Given the description of an element on the screen output the (x, y) to click on. 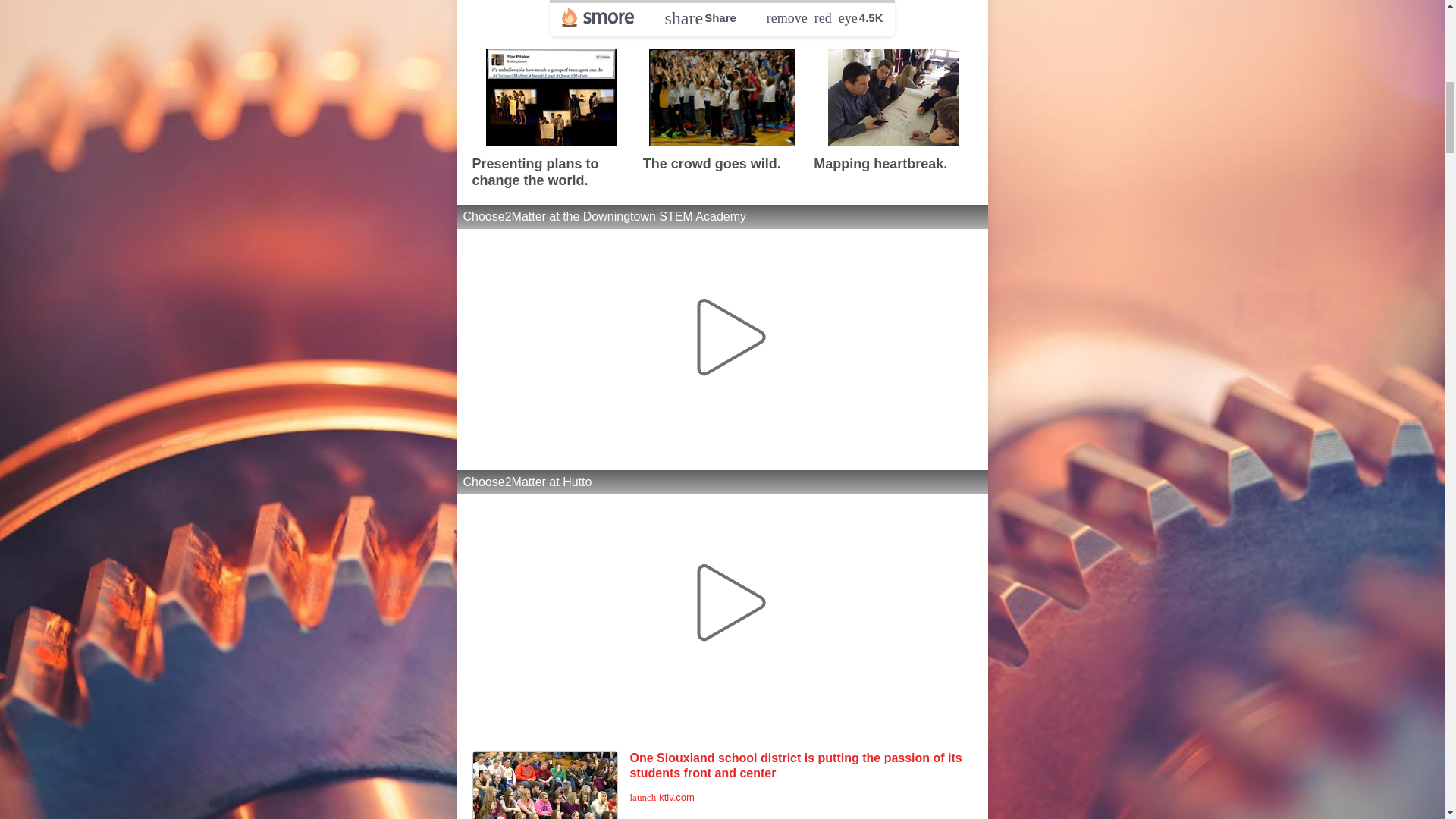
Choose2Matter (678, 9)
in (769, 9)
Action (812, 9)
